Given the description of an element on the screen output the (x, y) to click on. 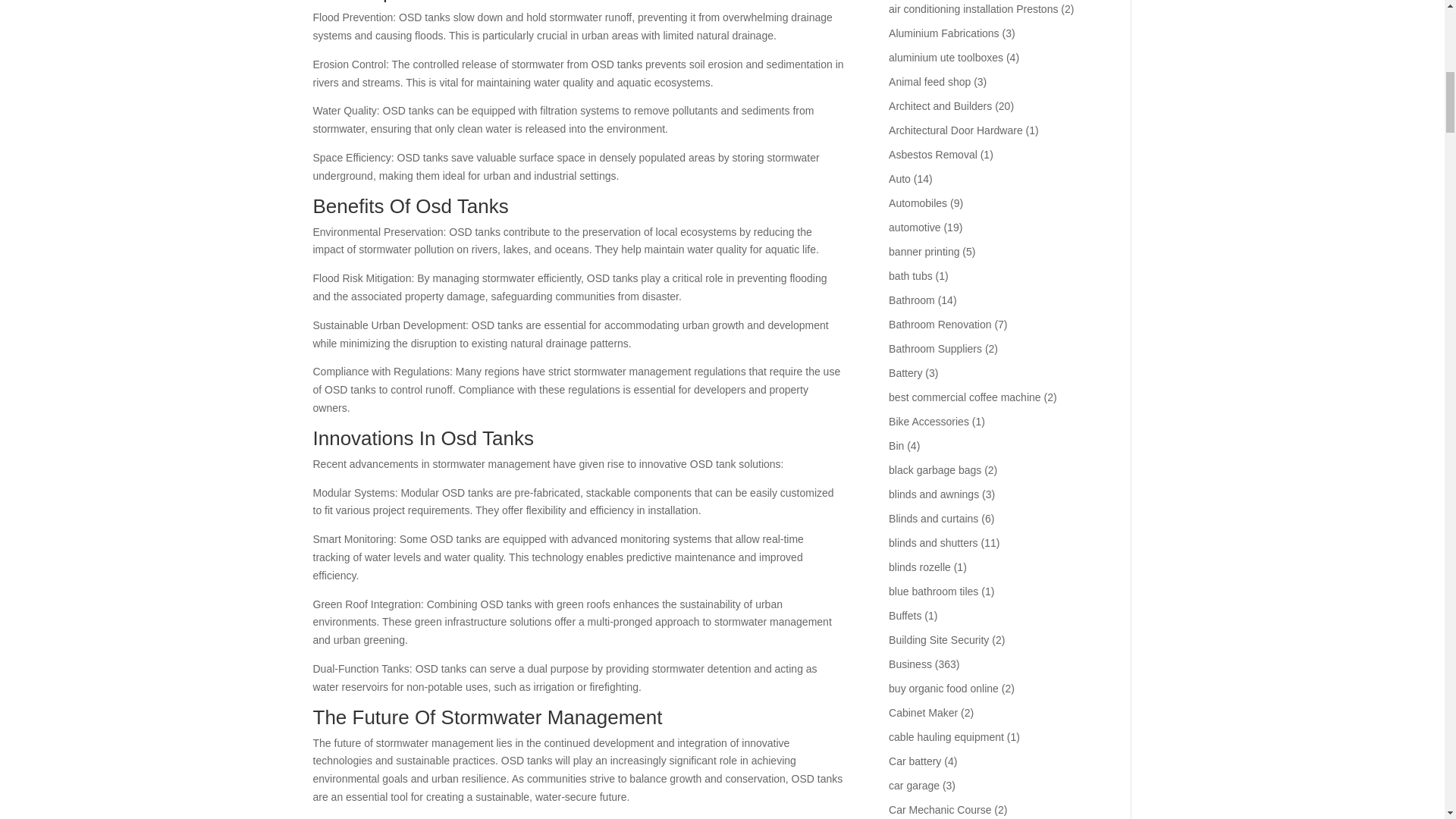
air conditioning installation Prestons (973, 9)
Aluminium Fabrications (943, 33)
